Given the description of an element on the screen output the (x, y) to click on. 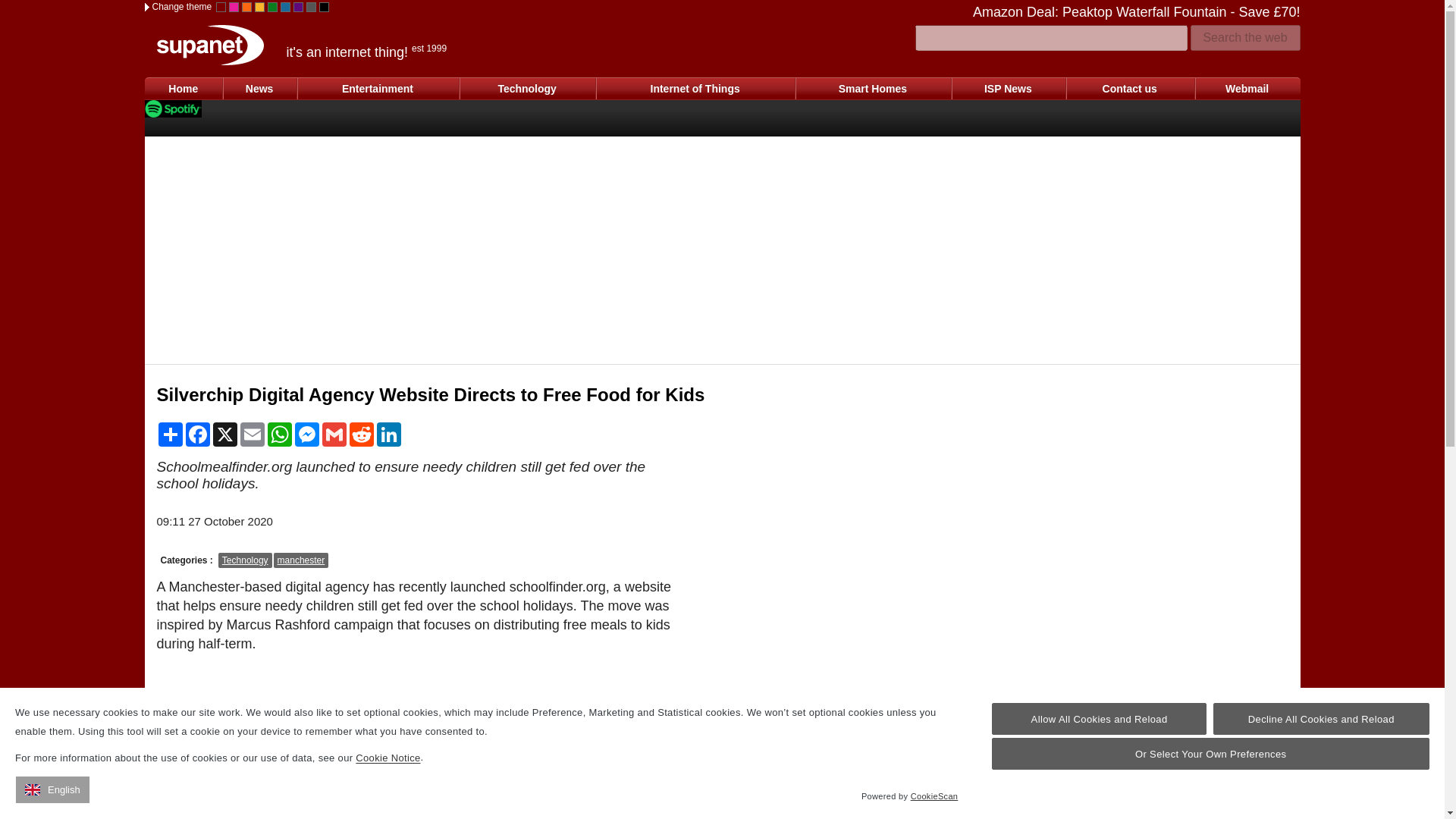
Supanet (209, 45)
News (259, 88)
Search the web (1245, 37)
Search the web (1245, 37)
Webmail (1246, 88)
Internet of Things (694, 88)
ISP News (1007, 88)
Search the web (1245, 37)
Entertainment (377, 88)
Home (183, 88)
Smart Homes (872, 88)
Contact us (1129, 88)
Advertisement (793, 642)
Technology (526, 88)
